Given the description of an element on the screen output the (x, y) to click on. 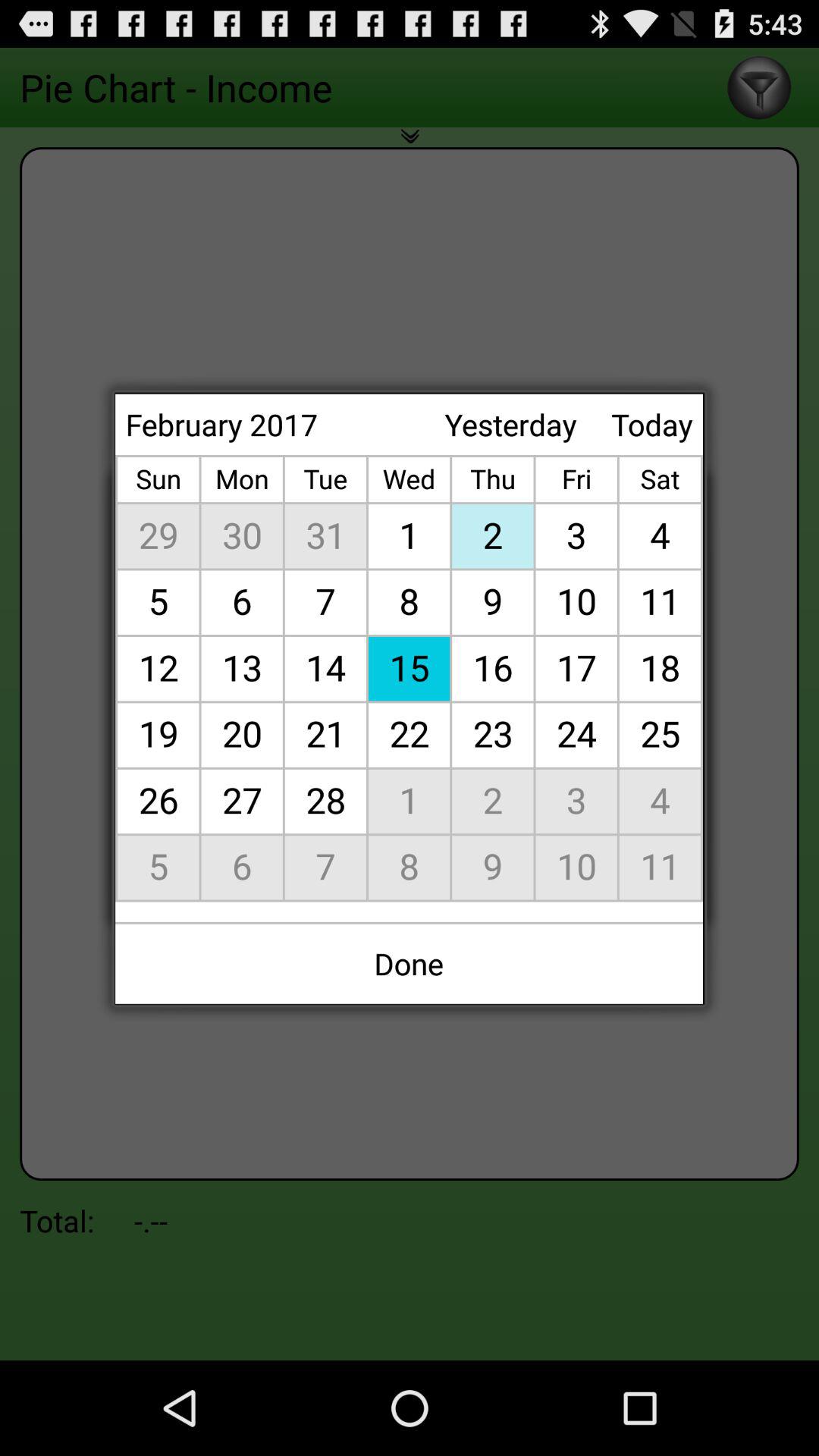
turn off item to the right of february 2017 app (510, 424)
